Given the description of an element on the screen output the (x, y) to click on. 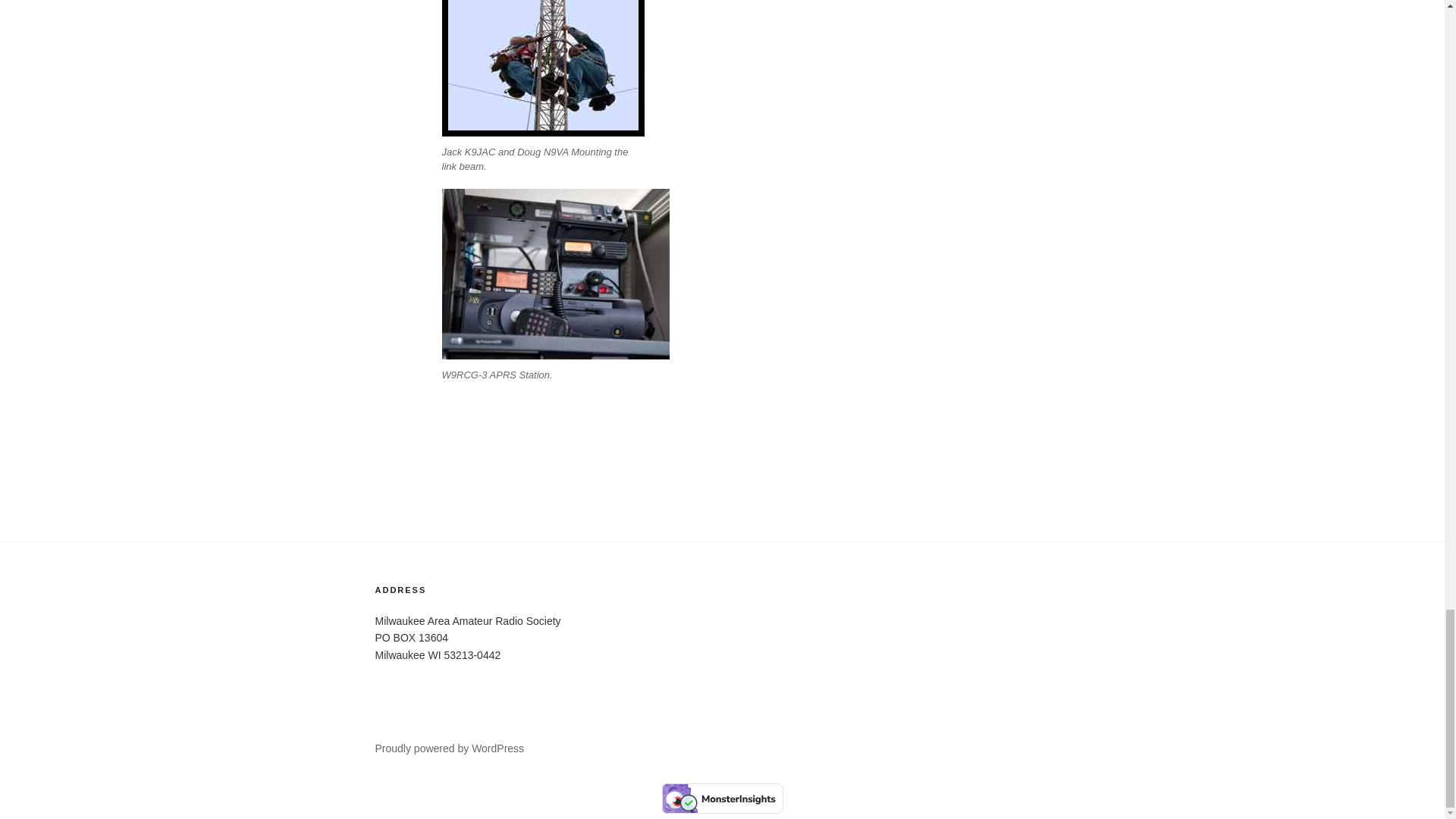
Verified by MonsterInsights (722, 798)
